Given the description of an element on the screen output the (x, y) to click on. 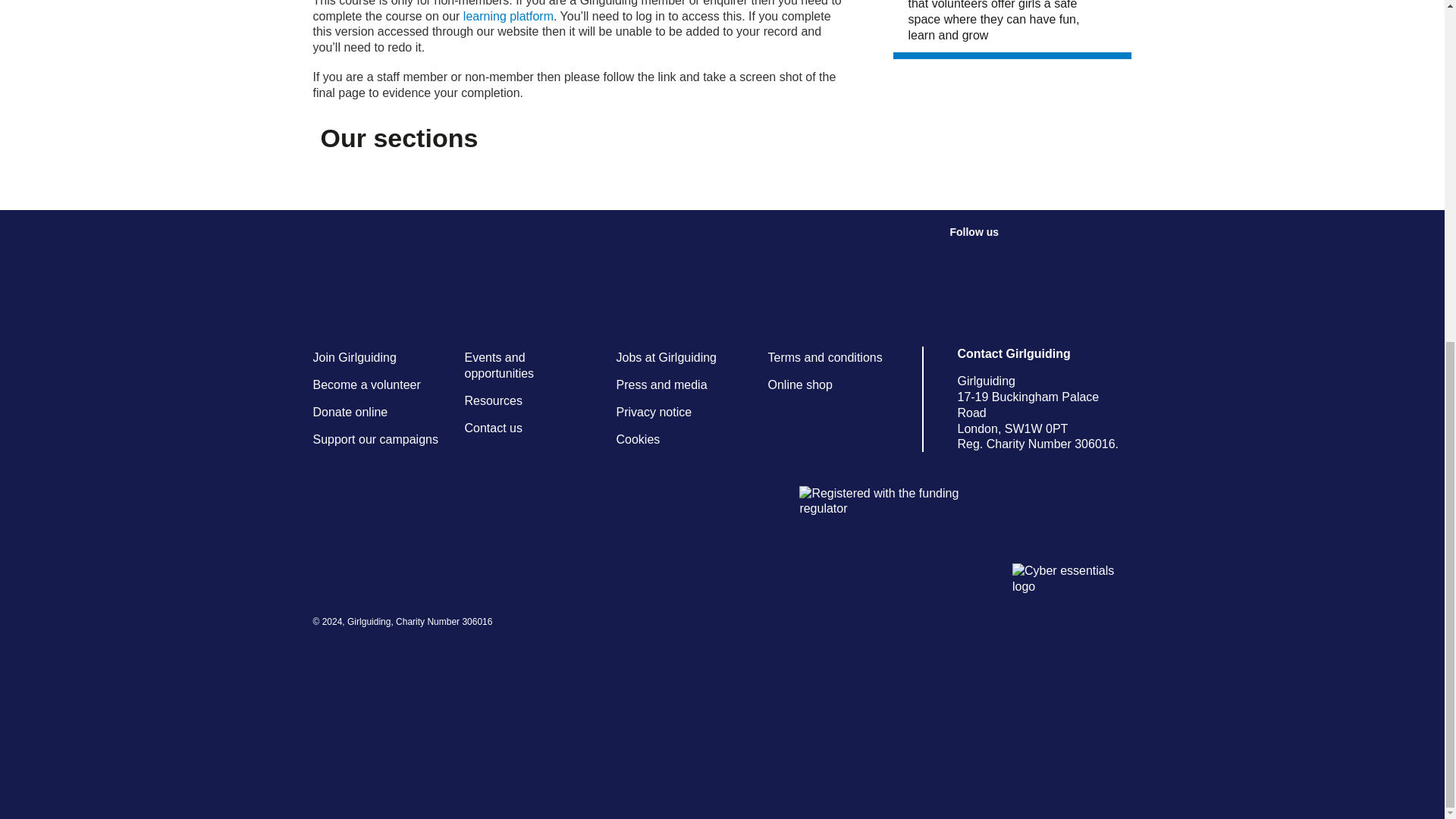
Cookies (637, 439)
This is the twitter icon in the footer (995, 257)
Terms and conditions (824, 357)
This is the instagram icon in the footer (1027, 257)
This is the youtube icon in the footer (1062, 257)
Contact us (492, 427)
This is the facebook icon in the footer (960, 257)
